Given the description of an element on the screen output the (x, y) to click on. 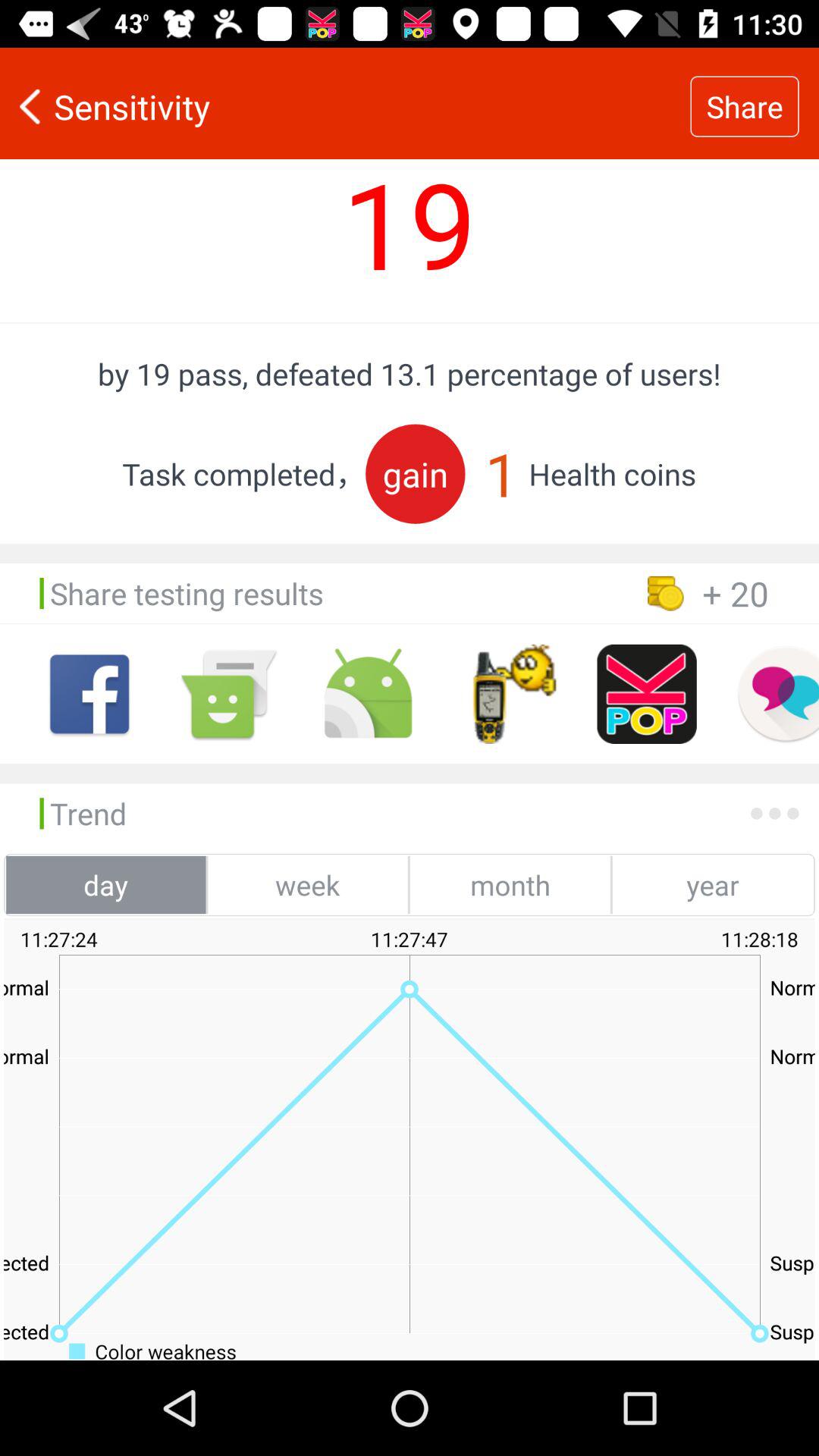
pop (646, 693)
